Given the description of an element on the screen output the (x, y) to click on. 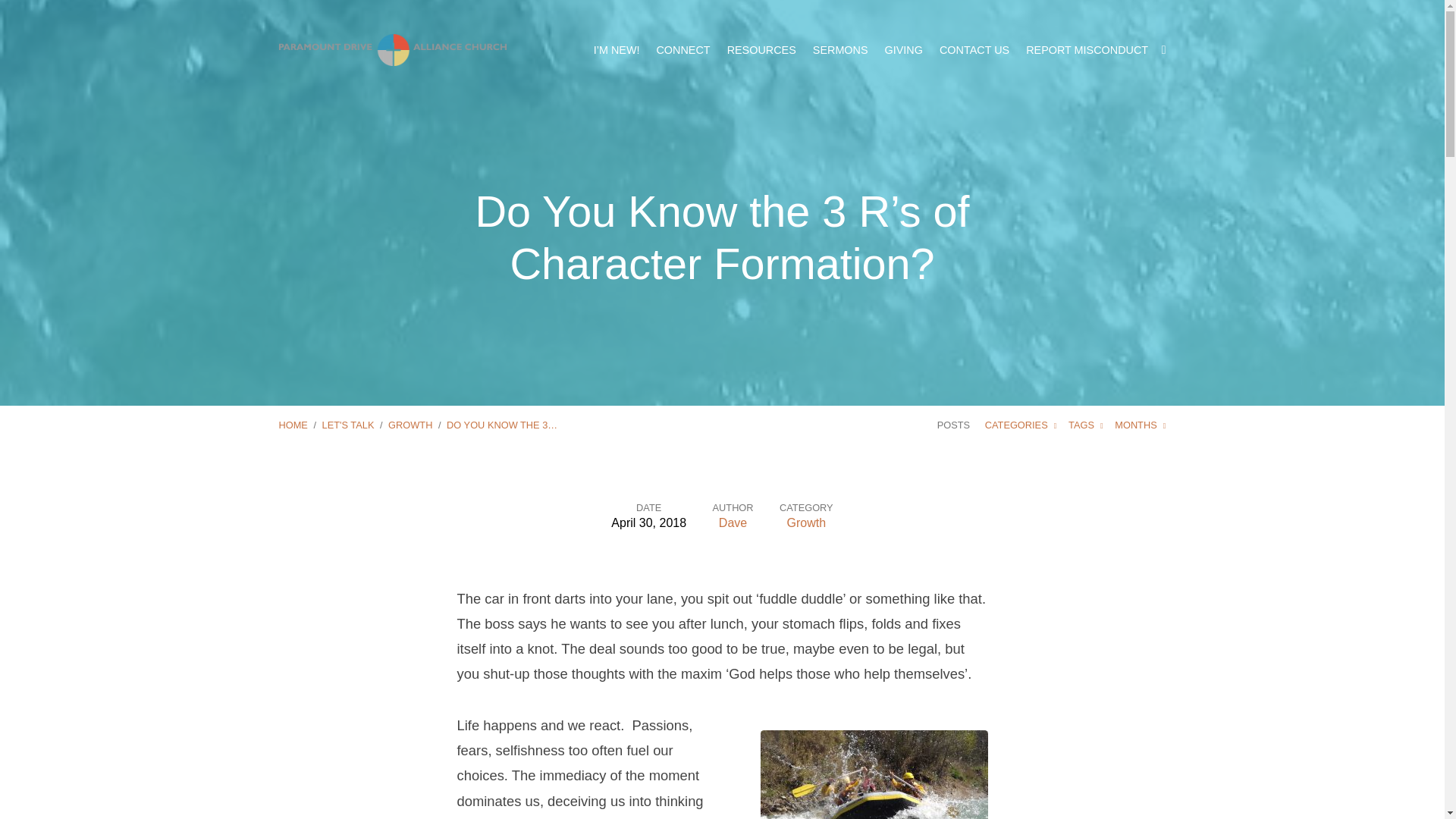
GROWTH (410, 424)
CONTACT US (974, 50)
POSTS (953, 424)
HOME (293, 424)
CATEGORIES (1021, 424)
LET'S TALK (347, 424)
CONNECT (683, 50)
RESOURCES (761, 50)
GIVING (904, 50)
REPORT MISCONDUCT (1087, 50)
